Given the description of an element on the screen output the (x, y) to click on. 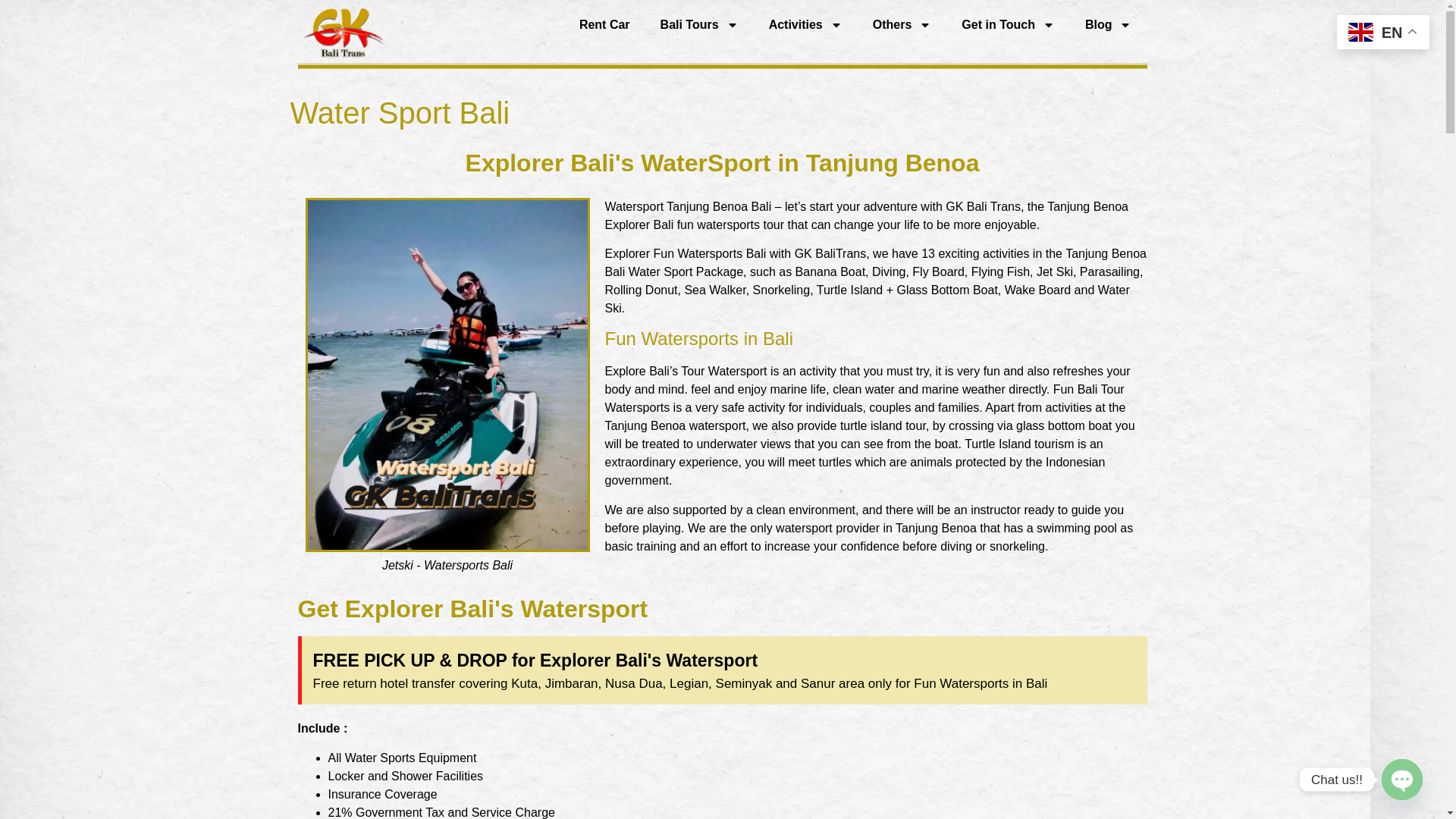
Blog (1108, 24)
Bali Tours (699, 24)
Activities (805, 24)
Rent Car (604, 24)
Others (902, 24)
Get in Touch (1008, 24)
